Given the description of an element on the screen output the (x, y) to click on. 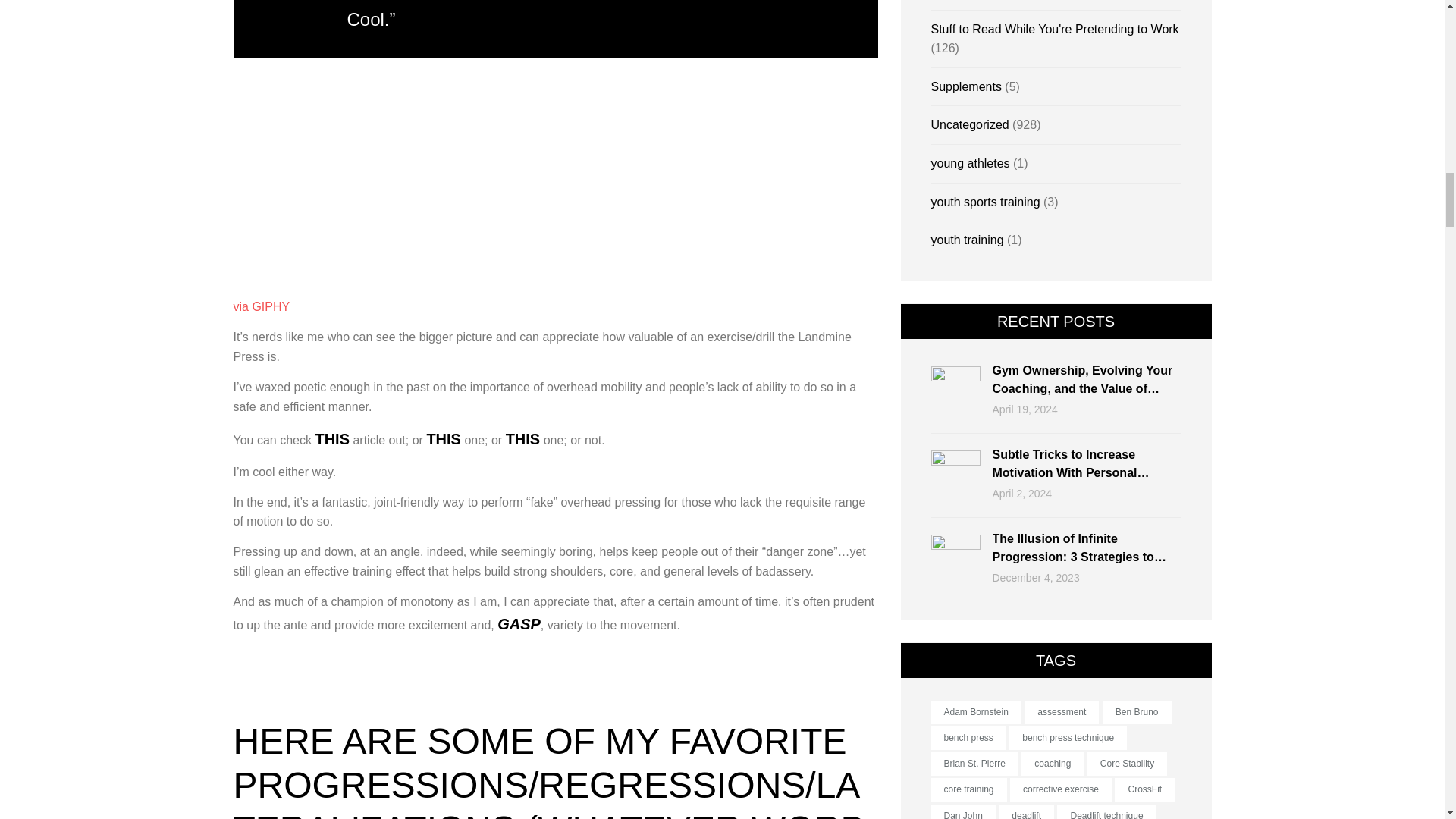
THIS (443, 440)
THIS (331, 440)
THIS (522, 440)
via GIPHY (260, 306)
